Given the description of an element on the screen output the (x, y) to click on. 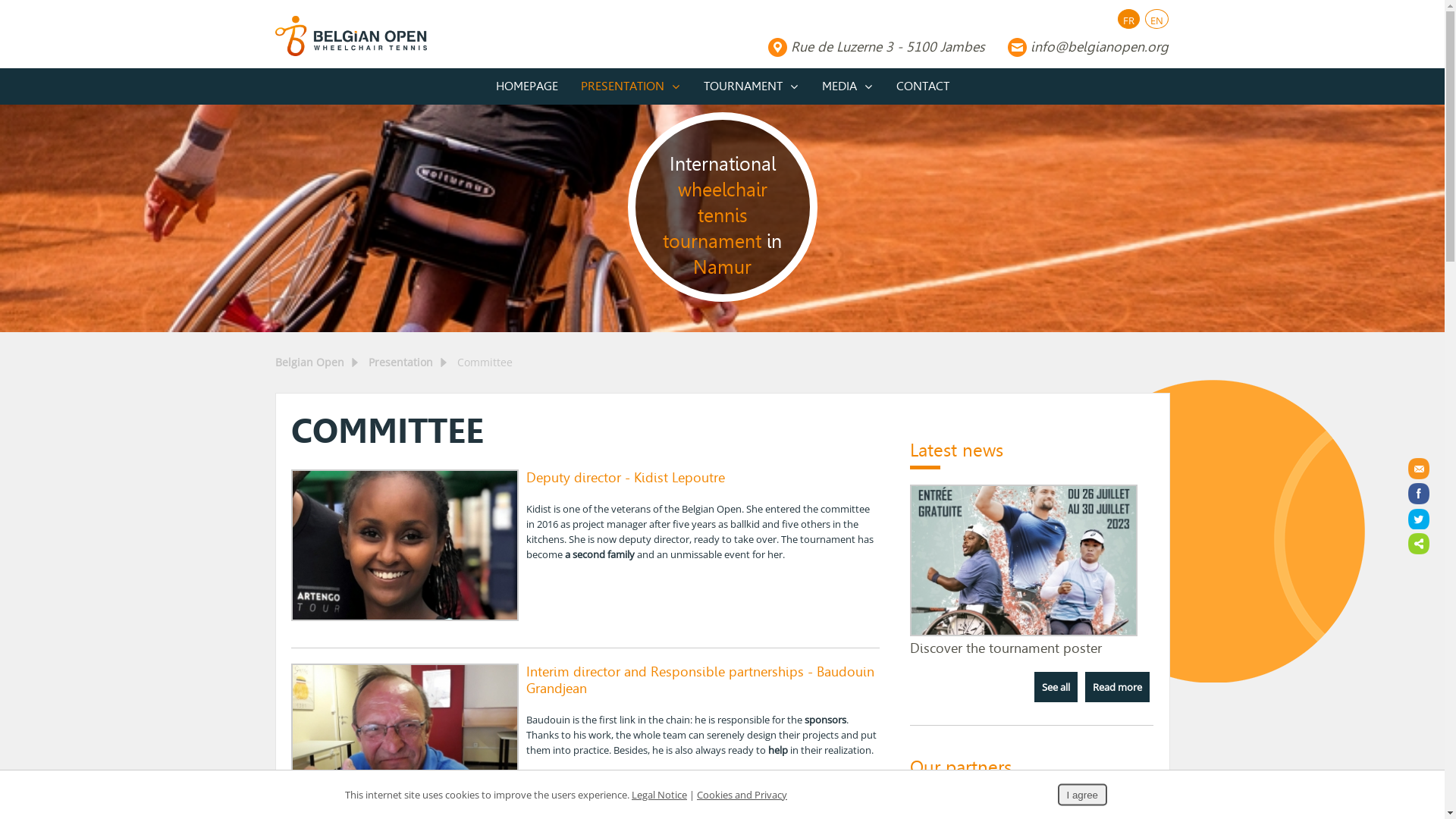
Cookies and Privacy Element type: text (741, 794)
Discover the tournament poster Element type: text (1005, 648)
EN Element type: text (1155, 20)
Read more Element type: text (1117, 686)
Legal Notice Element type: text (659, 794)
MEDIA Element type: text (846, 86)
FR Element type: text (1127, 20)
TOURNAMENT Element type: text (750, 86)
Belgian Open Element type: text (308, 361)
Rue de Luzerne 3 - 5100 Jambes Element type: text (875, 46)
Partager ce contenu Element type: text (1418, 543)
CONTACT Element type: text (922, 86)
info@belgianopen.org Element type: text (1087, 46)
See all Element type: text (1055, 686)
Discover the tournament poster Element type: hover (1023, 632)
Belgian Open Element type: hover (350, 36)
PRESENTATION Element type: text (629, 86)
Presentation Element type: text (400, 361)
HOMEPAGE Element type: text (525, 86)
